Given the description of an element on the screen output the (x, y) to click on. 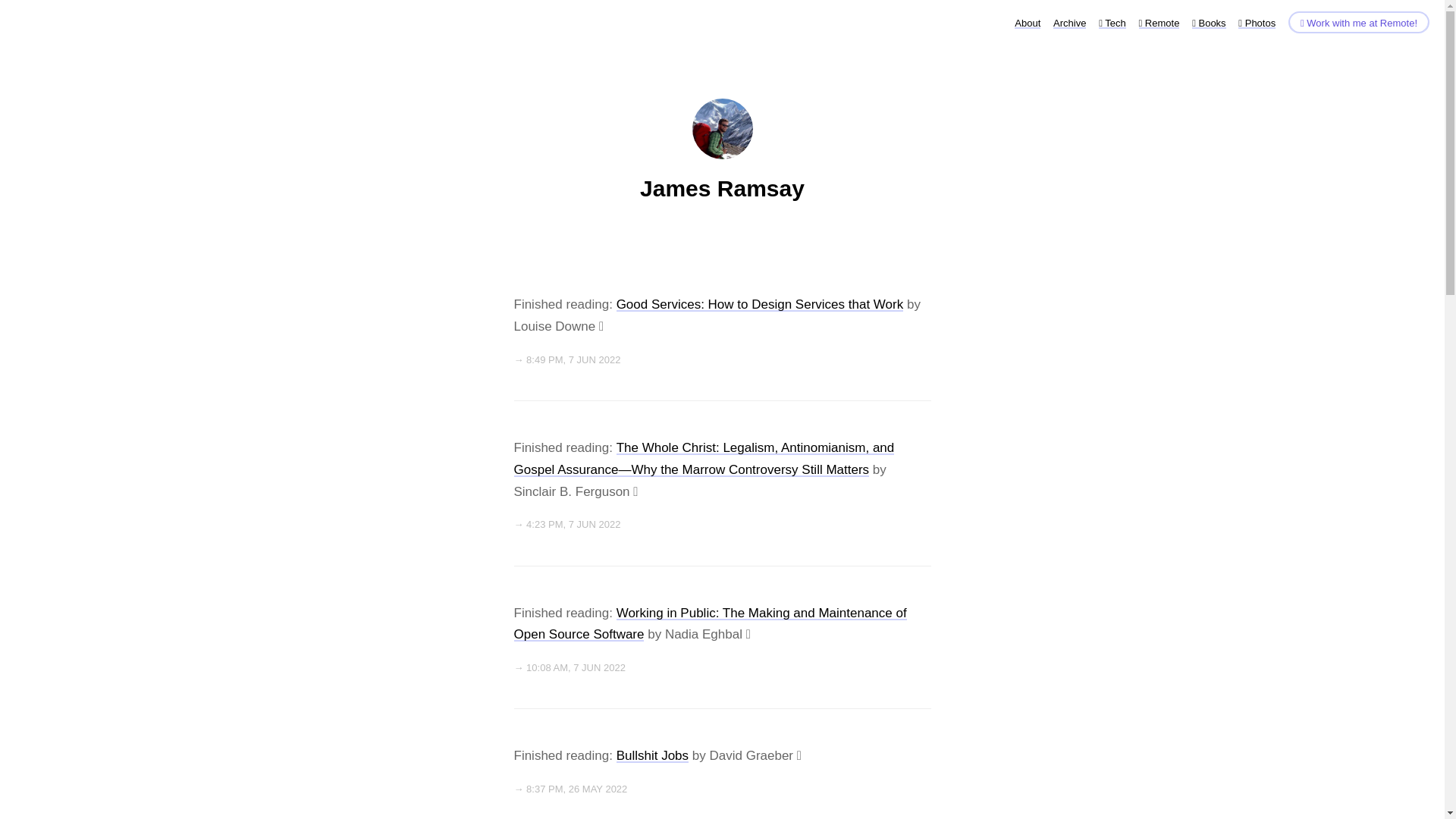
Archive Element type: text (1069, 22)
Bullshit Jobs Element type: text (652, 755)
About Element type: text (1027, 22)
Good Services: How to Design Services that Work Element type: text (759, 304)
